Given the description of an element on the screen output the (x, y) to click on. 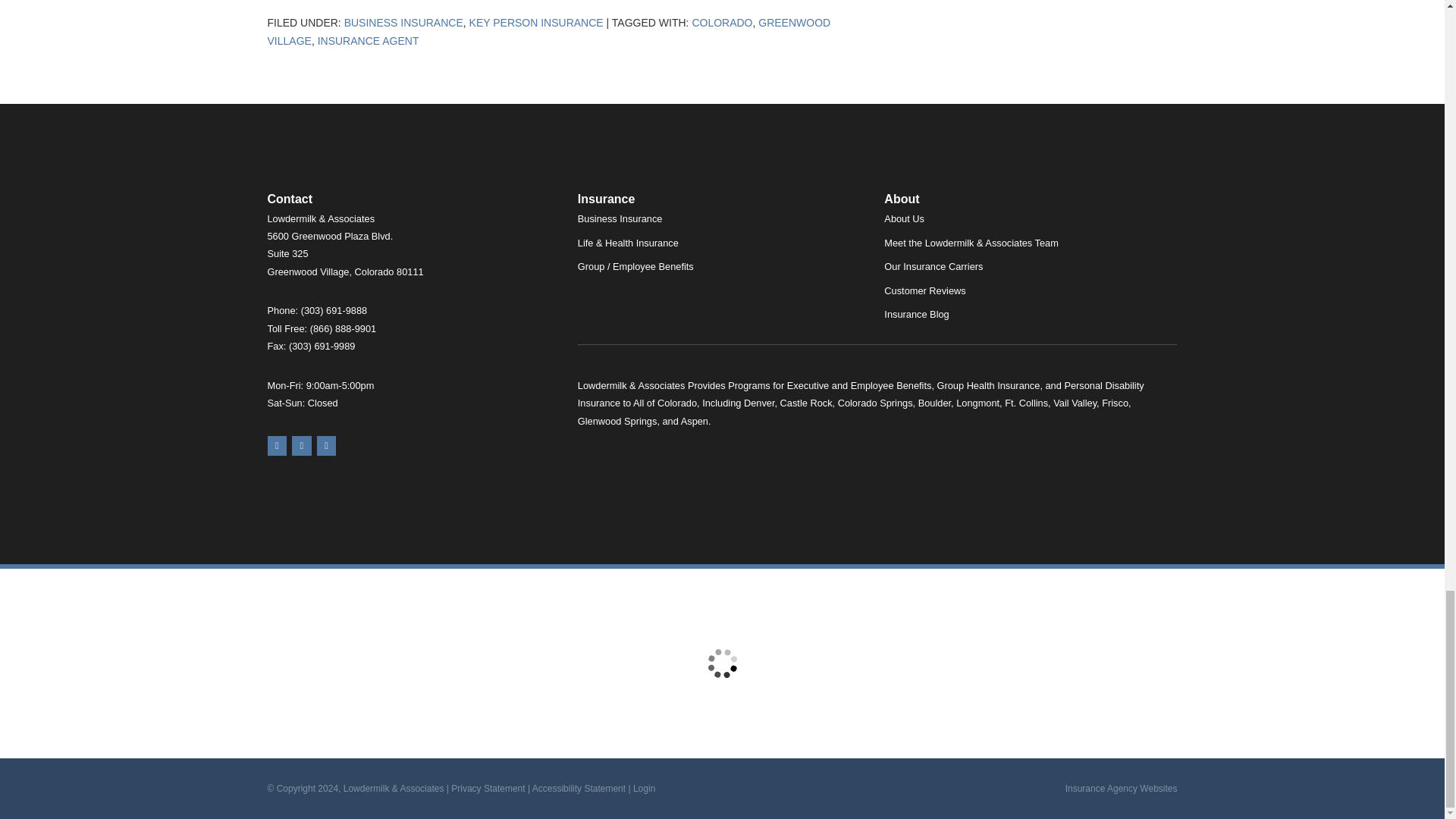
Key Person Insurance (536, 22)
Business Insurance (403, 22)
Colorado (721, 22)
insurance agent (368, 40)
BUSINESS INSURANCE (403, 22)
GREENWOOD VILLAGE (547, 31)
Facebook (301, 445)
LinkedIn (326, 445)
KEY PERSON INSURANCE (536, 22)
Greenwood Village (547, 31)
Google Maps (276, 445)
COLORADO (721, 22)
